Given the description of an element on the screen output the (x, y) to click on. 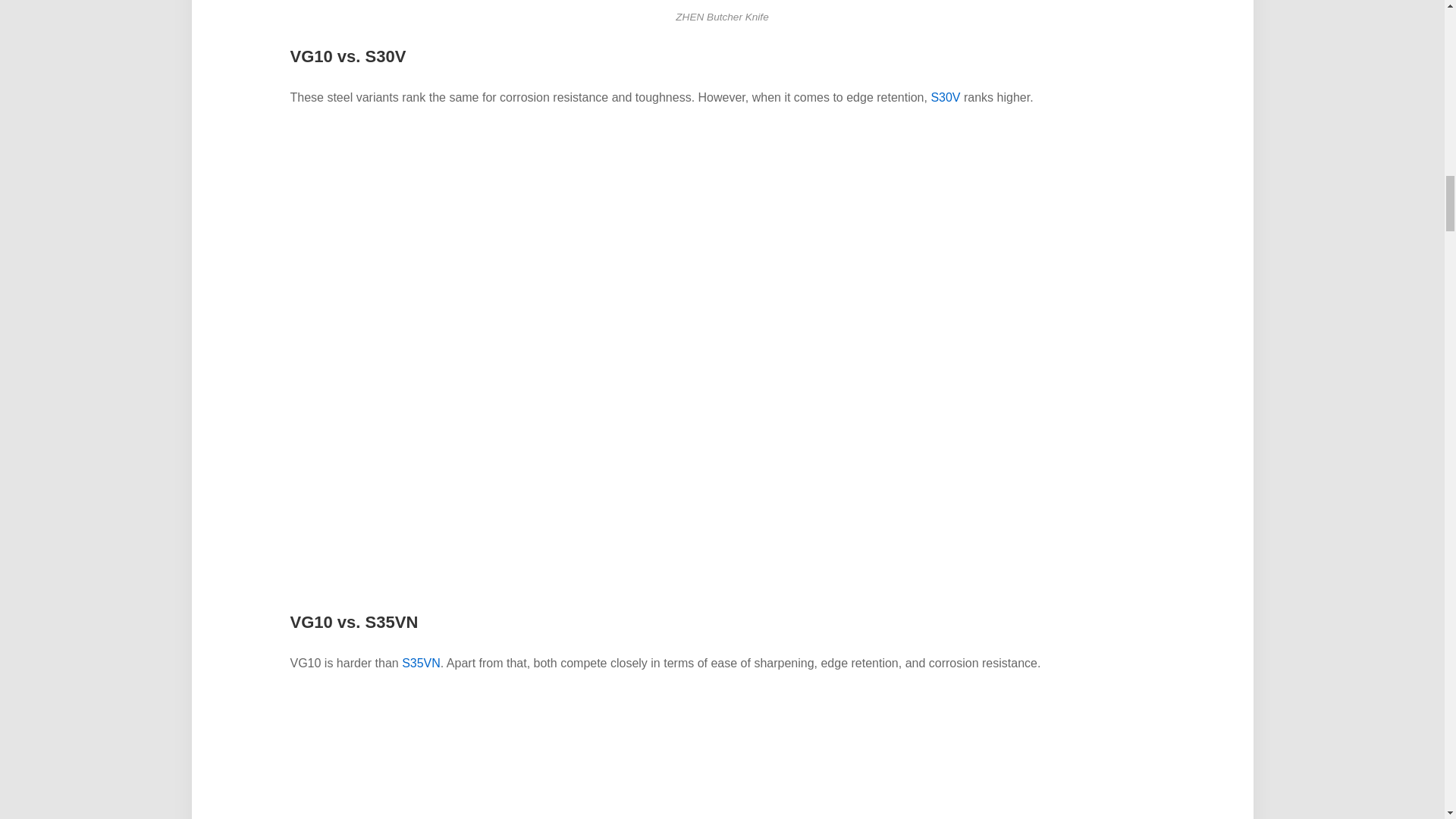
S30V (944, 97)
VG10 Steel: Is it a Good Knife Steel? 5 (721, 755)
S35VN (421, 662)
